Given the description of an element on the screen output the (x, y) to click on. 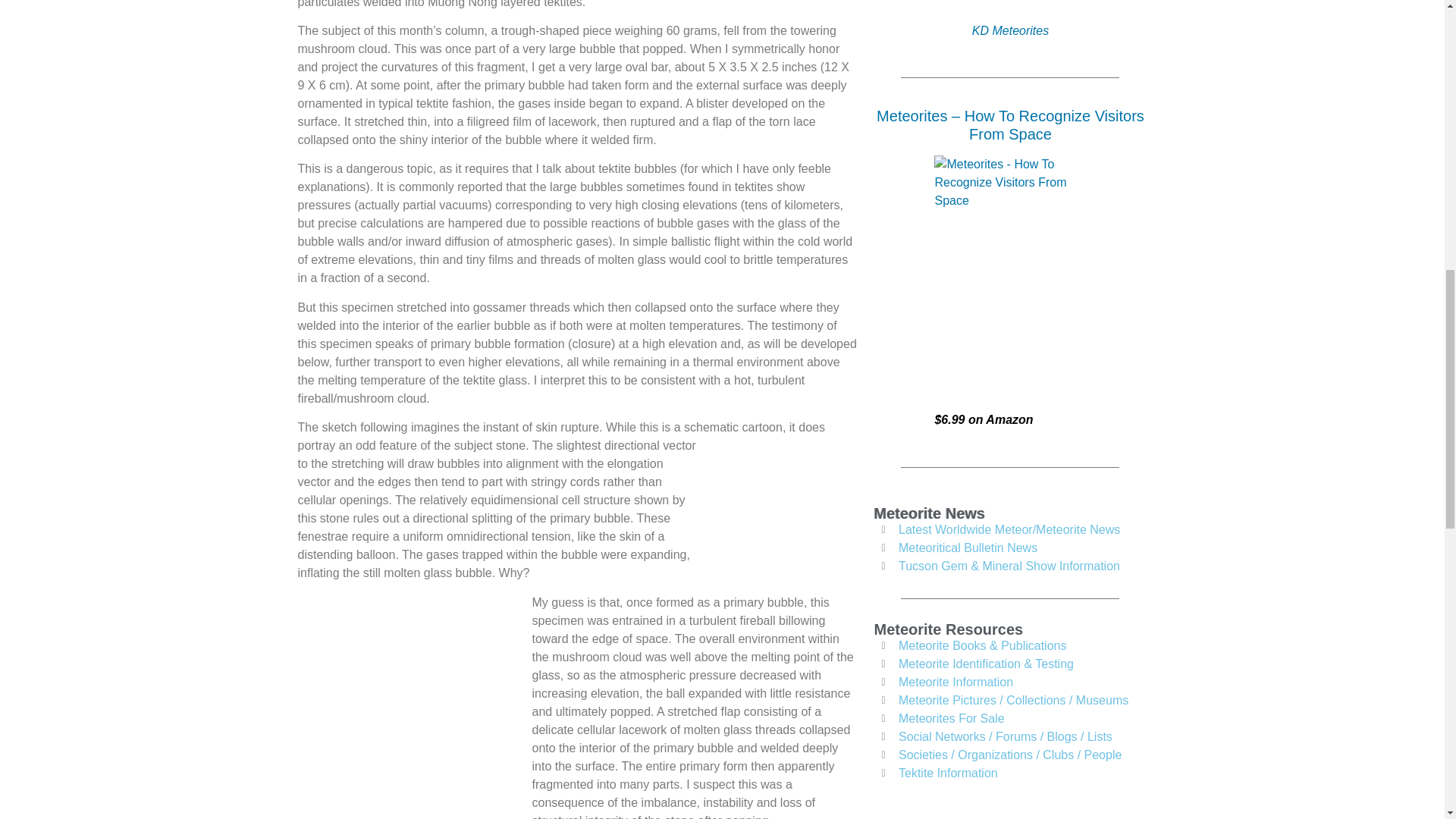
Meteoritical Bulletin News (1013, 547)
KD Meteorites (1010, 30)
Meteorite Information (1013, 682)
